Given the description of an element on the screen output the (x, y) to click on. 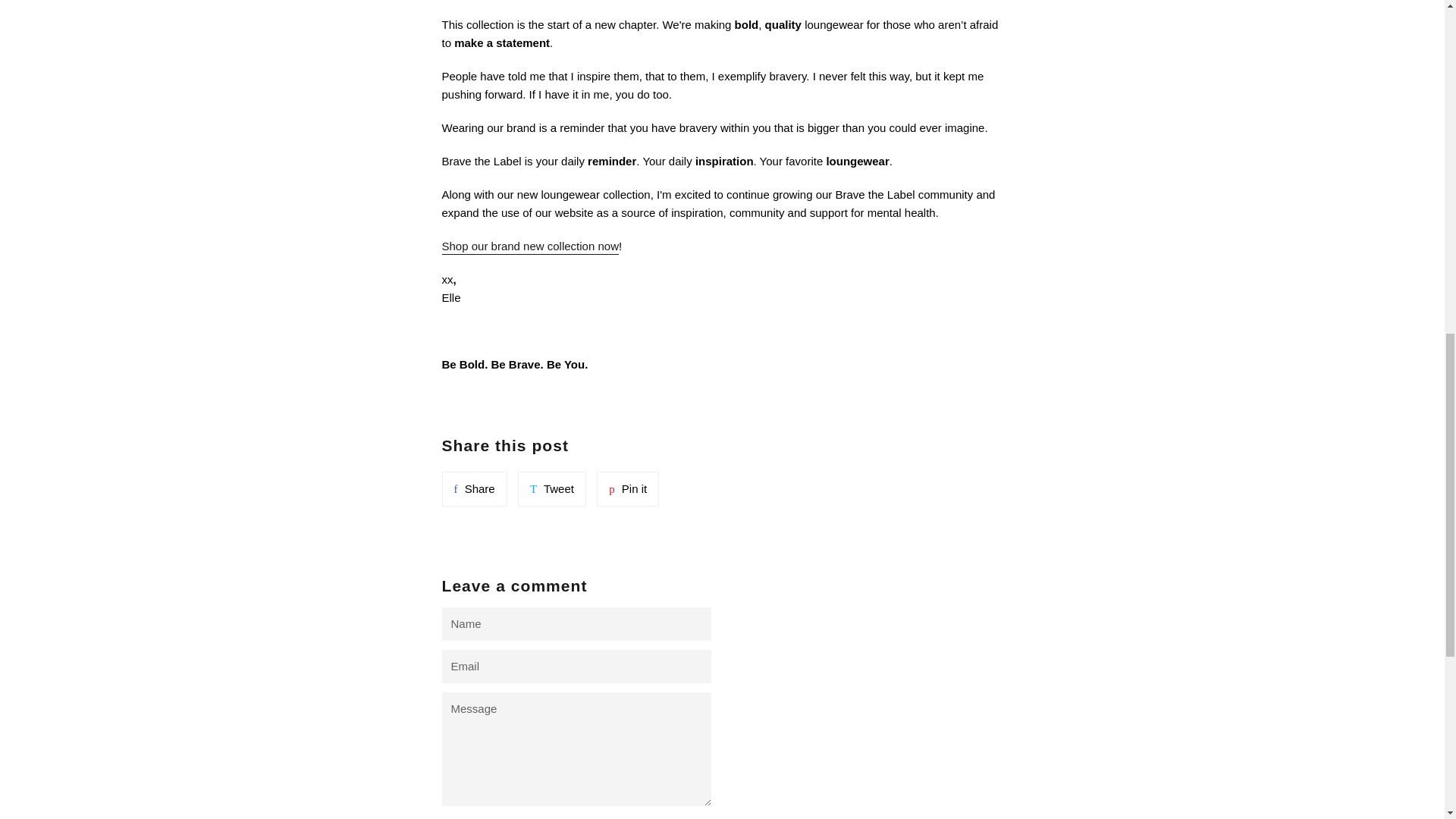
Shop our brand new collection now (529, 246)
Share on Facebook (473, 488)
Pin on Pinterest (552, 488)
Tweet on Twitter (627, 488)
